Given the description of an element on the screen output the (x, y) to click on. 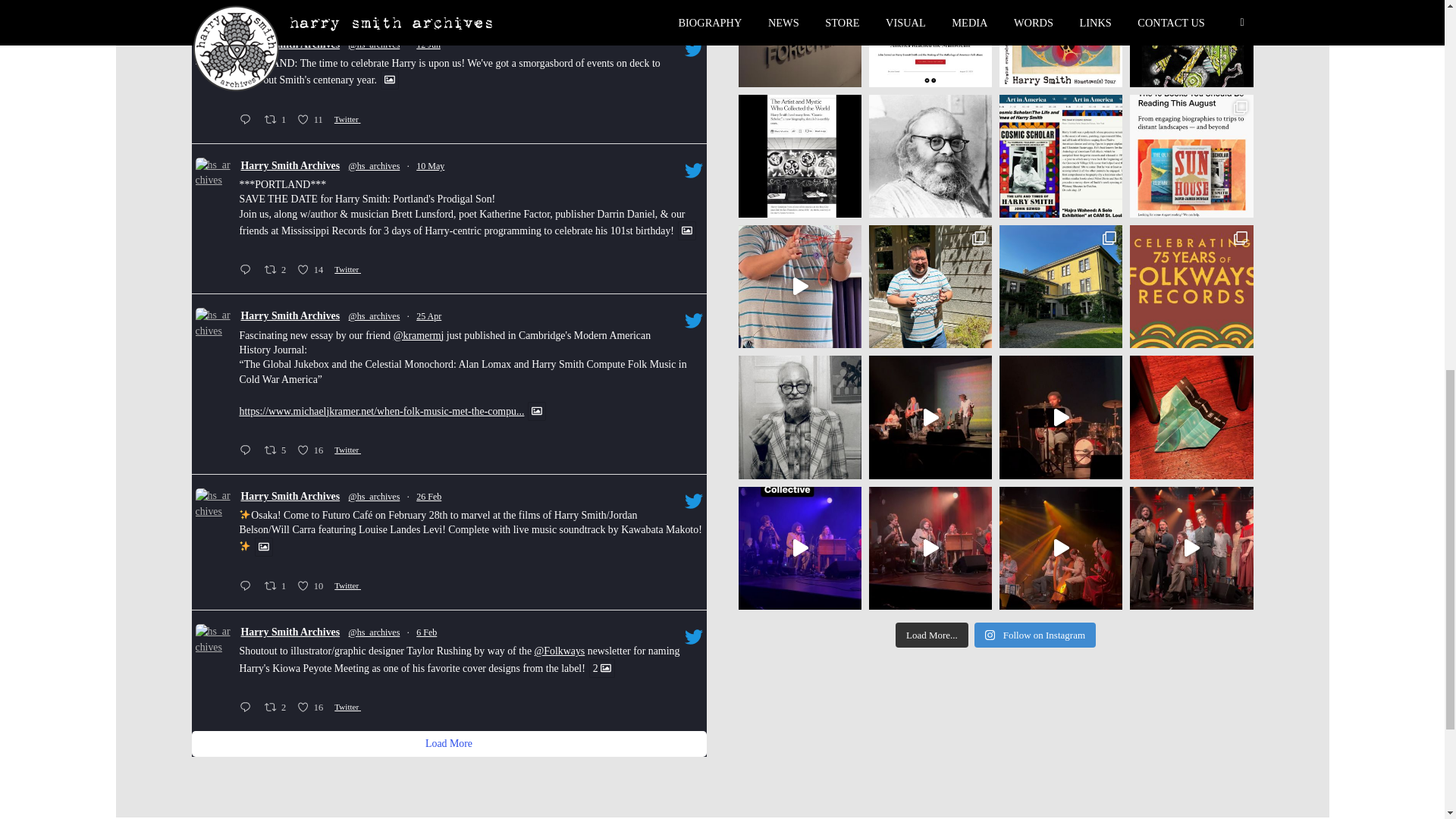
Reply on Twitter 1789034254141386801 (312, 120)
Reply on Twitter 1801006631498715480 (247, 271)
Harry Smith Archives (277, 120)
10 May (247, 120)
12 Jun (290, 166)
Harry Smith Archives (430, 165)
Twitter 1801006631498715480 (428, 44)
